Given the description of an element on the screen output the (x, y) to click on. 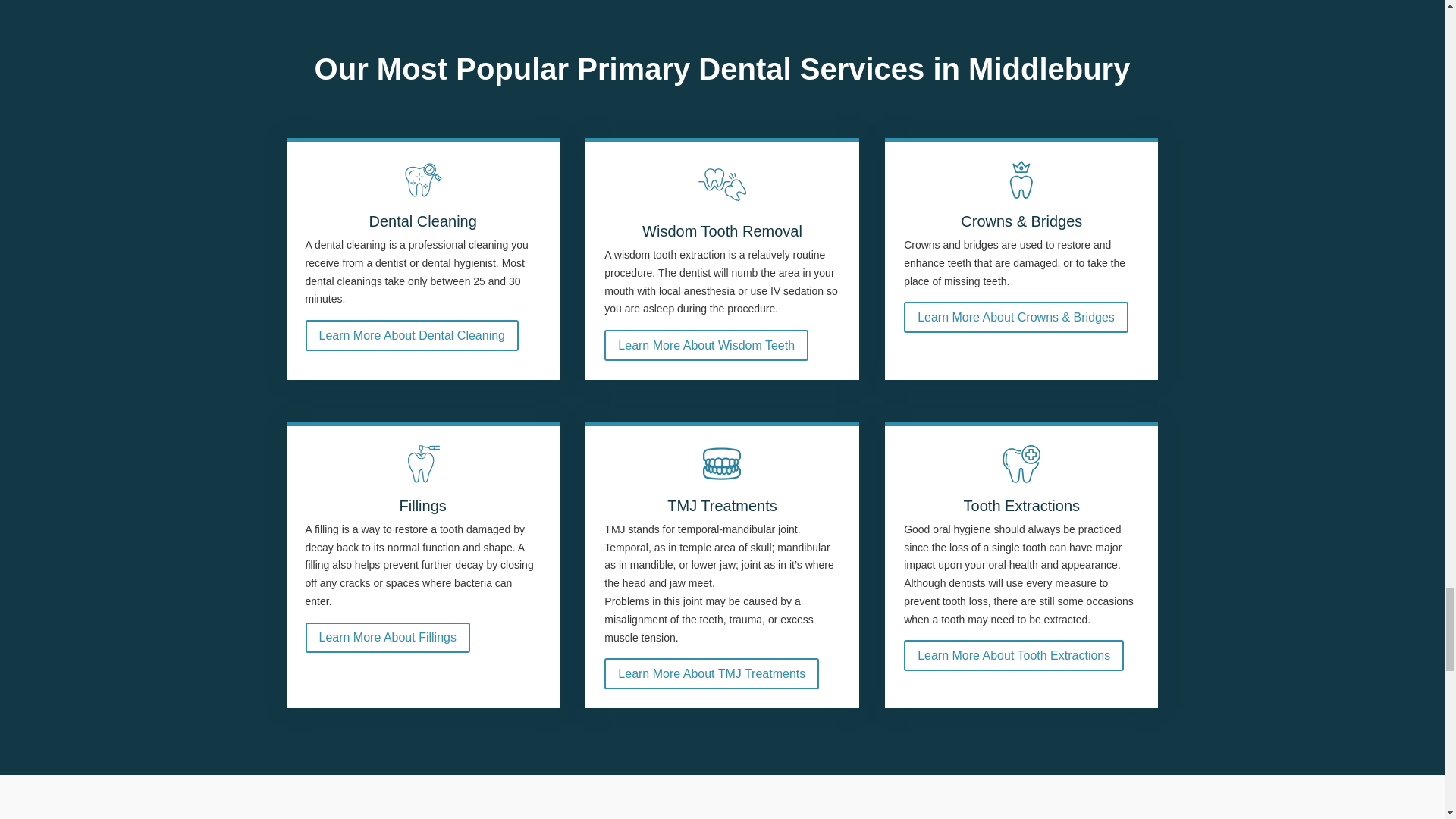
Fillings (423, 464)
3 (1022, 179)
1 (423, 179)
wisdom teeth (721, 184)
